Given the description of an element on the screen output the (x, y) to click on. 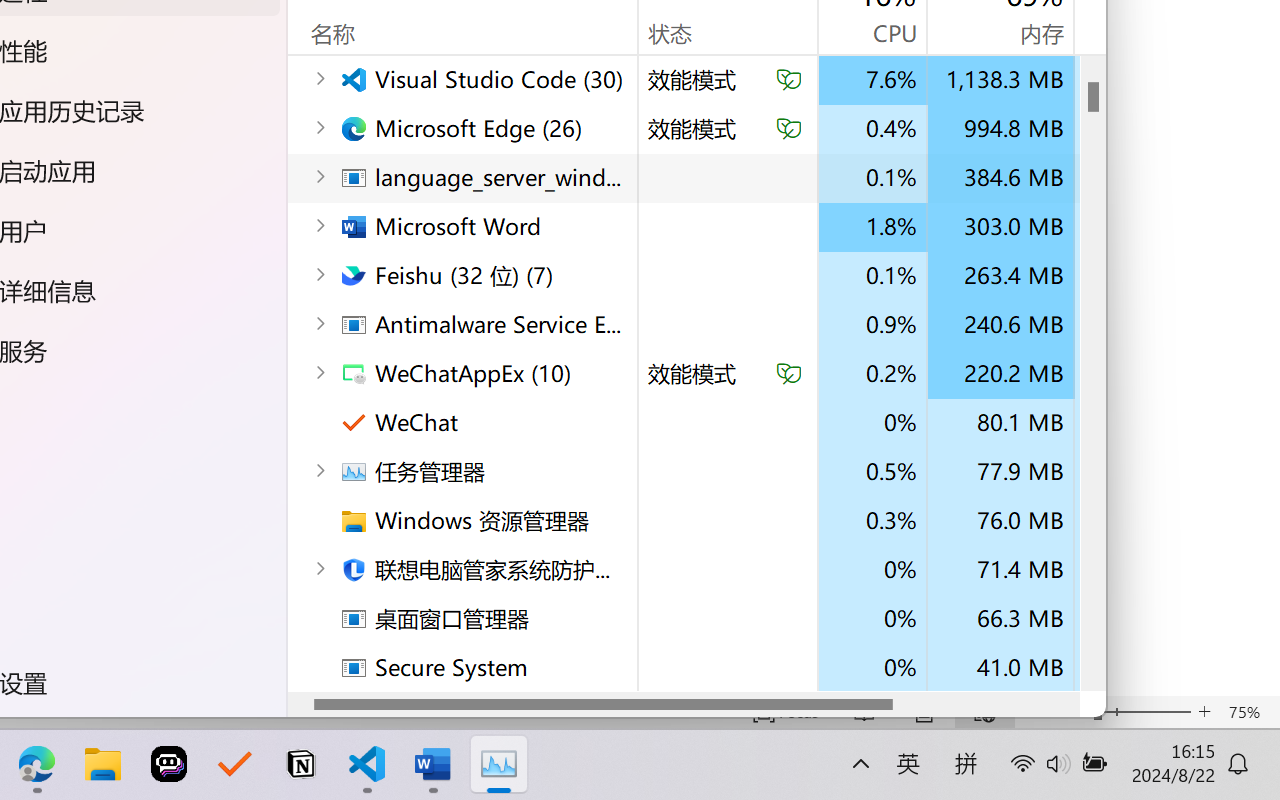
Notion (300, 764)
Poe (168, 764)
